Given the description of an element on the screen output the (x, y) to click on. 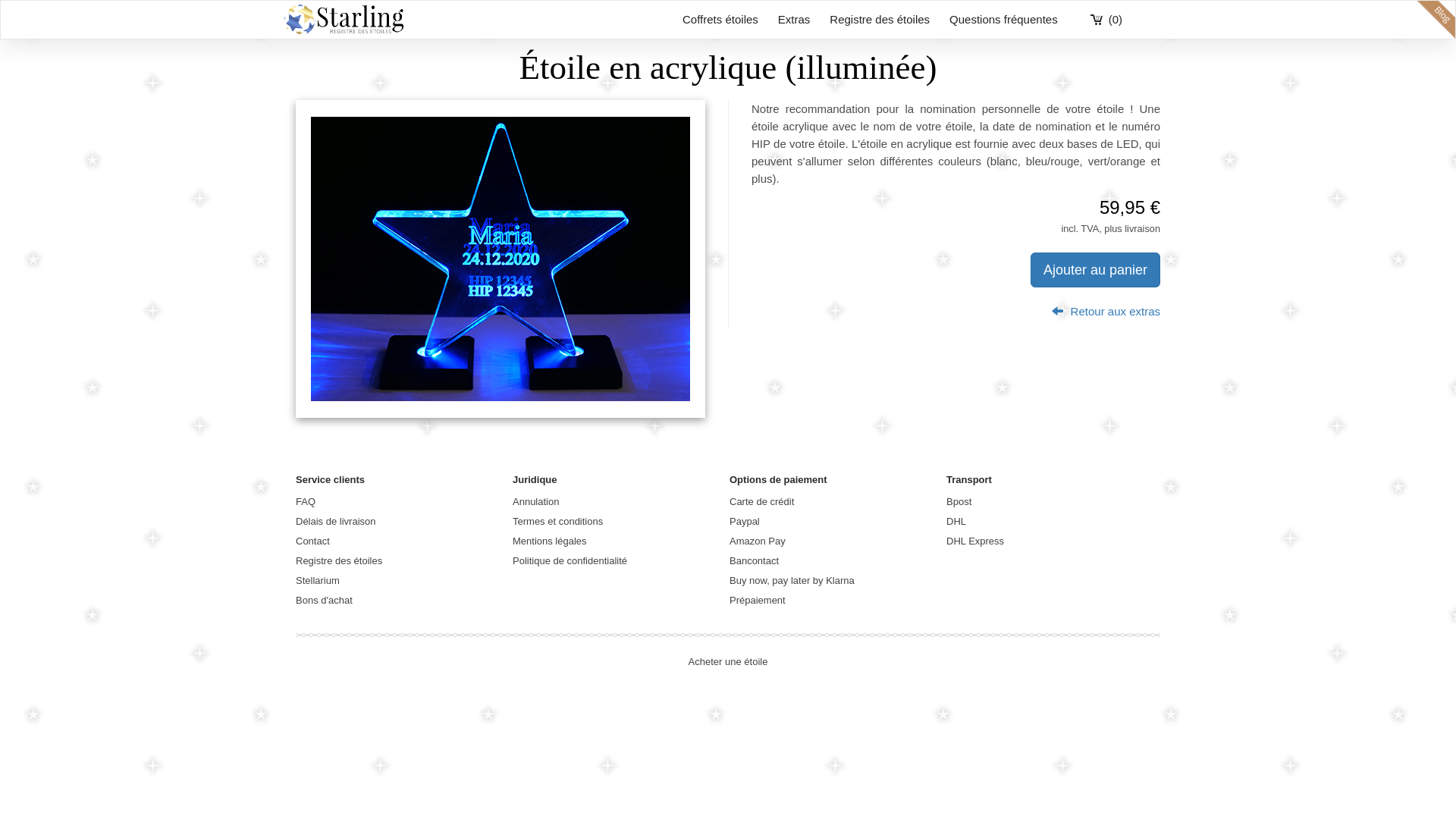
Retour aux extras Element type: text (1105, 310)
Contact Element type: text (312, 540)
Annulation Element type: text (535, 501)
FAQ Element type: text (305, 501)
Bons d'achat Element type: text (323, 599)
Ajouter au panier Element type: text (1095, 269)
Termes et conditions Element type: text (557, 521)
Stellarium Element type: text (317, 580)
(0) Element type: text (1106, 19)
Extras Element type: text (794, 19)
